Given the description of an element on the screen output the (x, y) to click on. 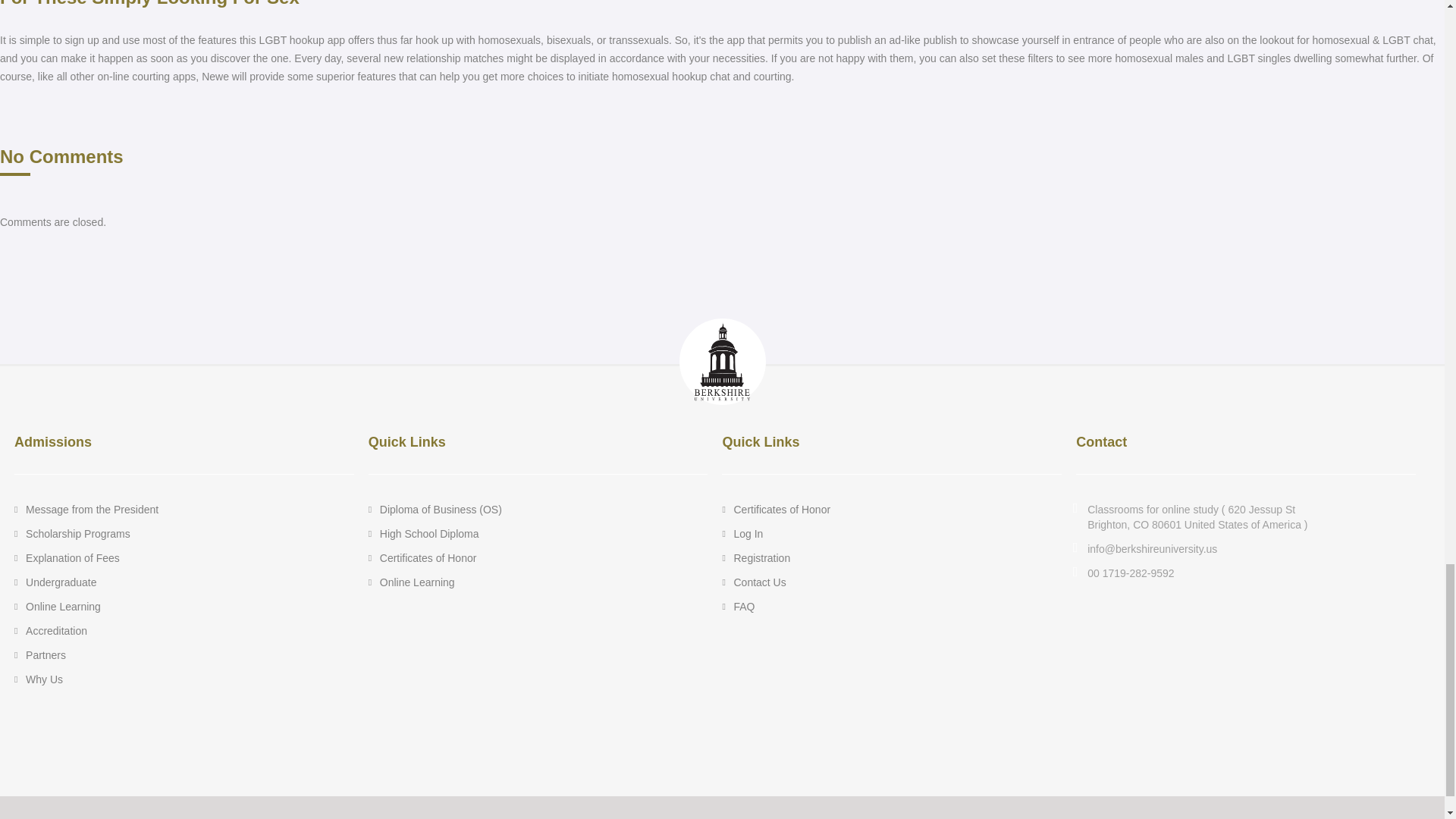
Footer Logo (722, 361)
